Given the description of an element on the screen output the (x, y) to click on. 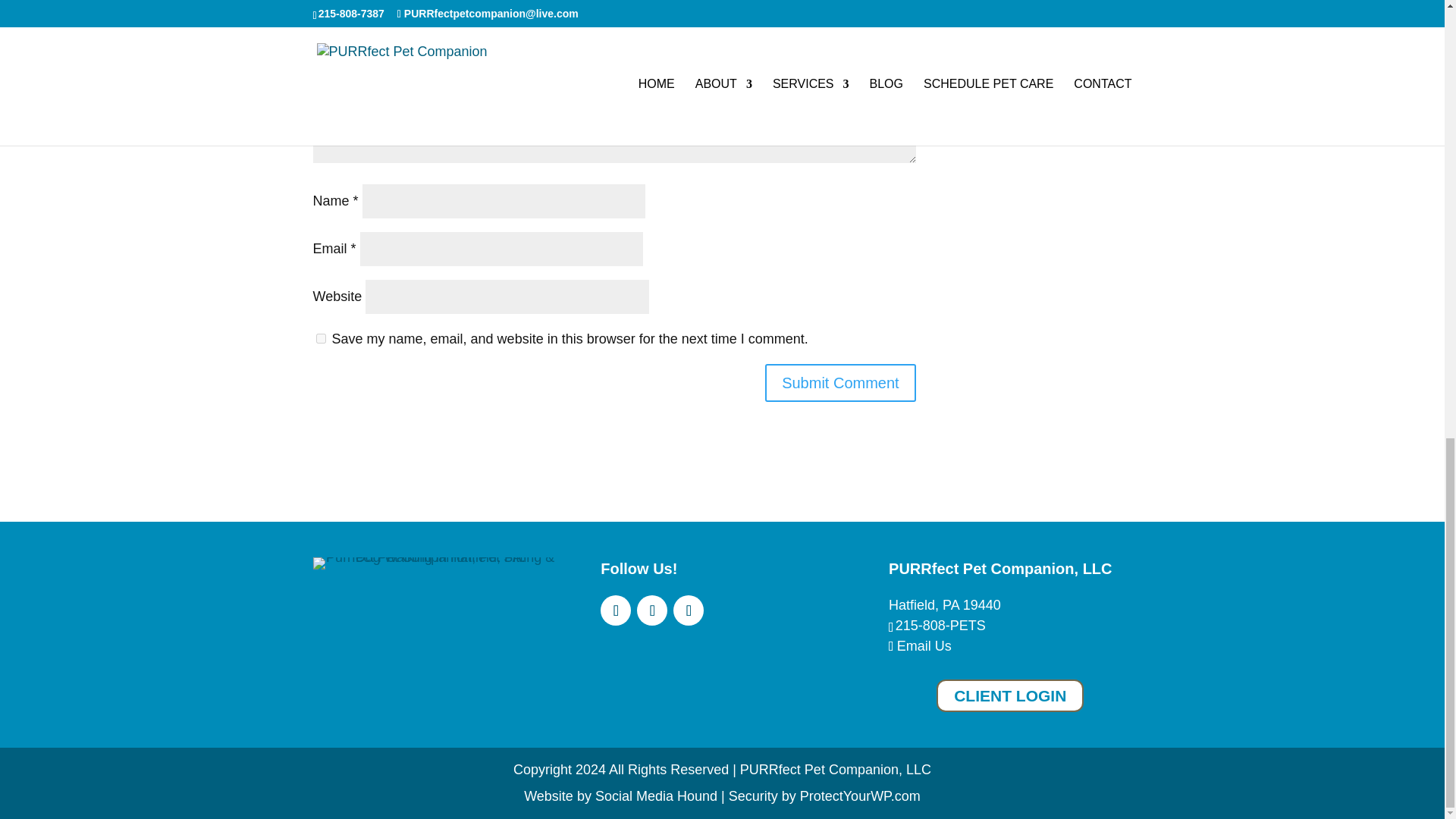
Follow on Facebook (614, 610)
Purrfect-Pet-Companion (433, 563)
Follow on Yelp (651, 610)
Follow on Google (687, 610)
Submit Comment (840, 382)
Submit Comment (840, 382)
yes (319, 338)
